Given the description of an element on the screen output the (x, y) to click on. 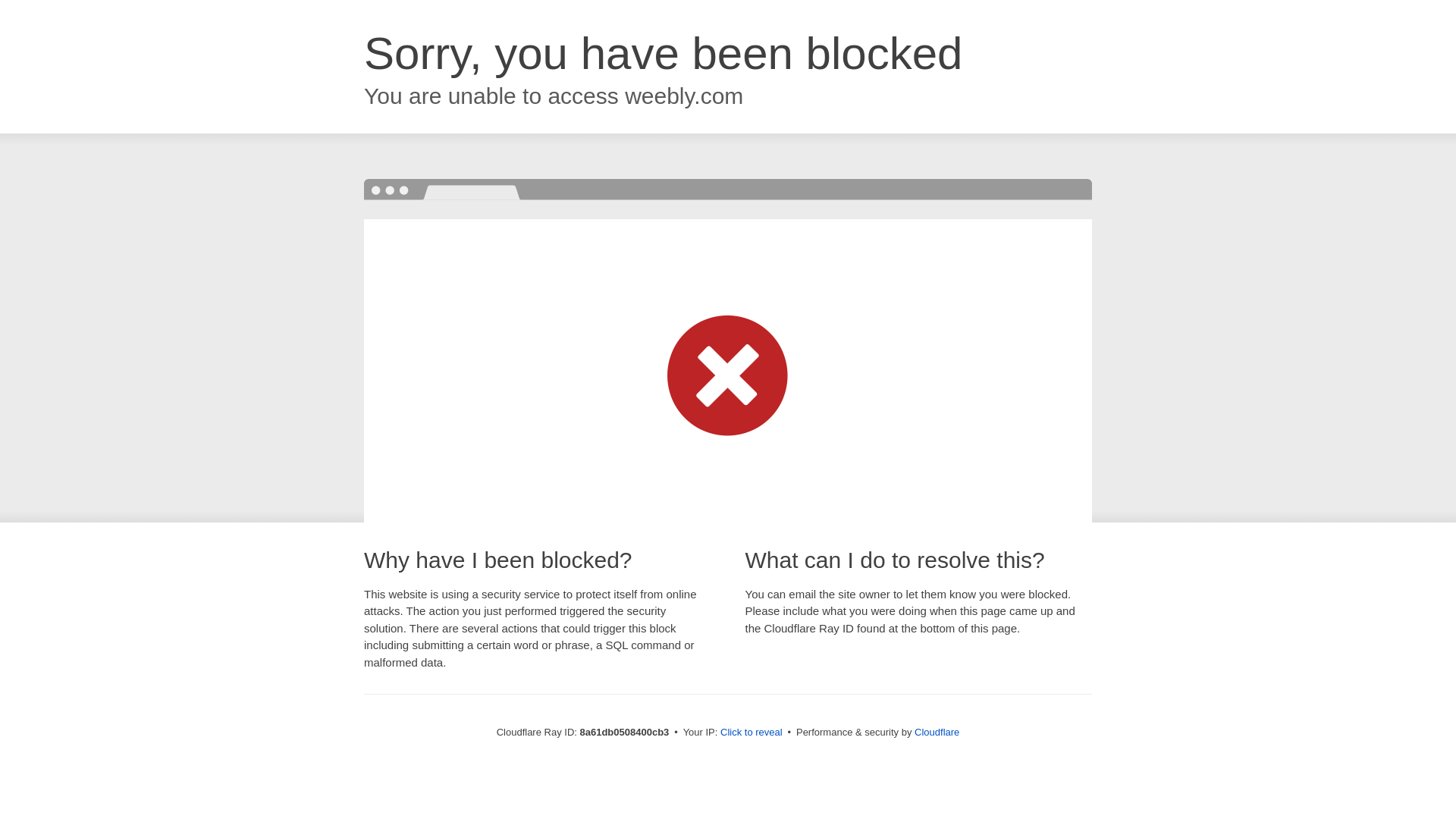
Cloudflare (936, 731)
Click to reveal (751, 732)
